Given the description of an element on the screen output the (x, y) to click on. 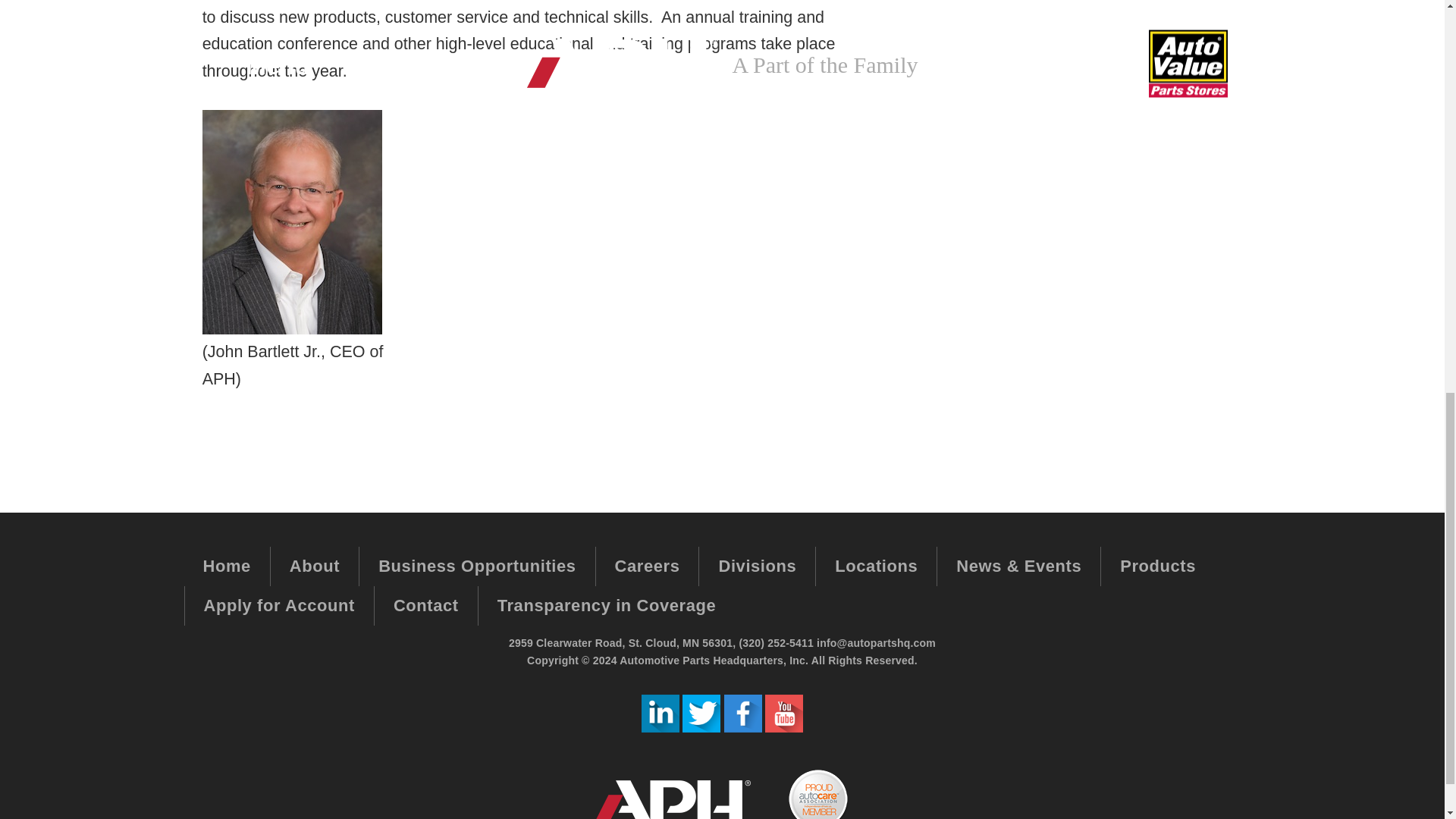
Locations (875, 565)
About (314, 565)
Careers (646, 565)
Divisions (756, 565)
Home (226, 565)
Business Opportunities (476, 565)
Products (1157, 565)
Apply for Account (278, 605)
